Given the description of an element on the screen output the (x, y) to click on. 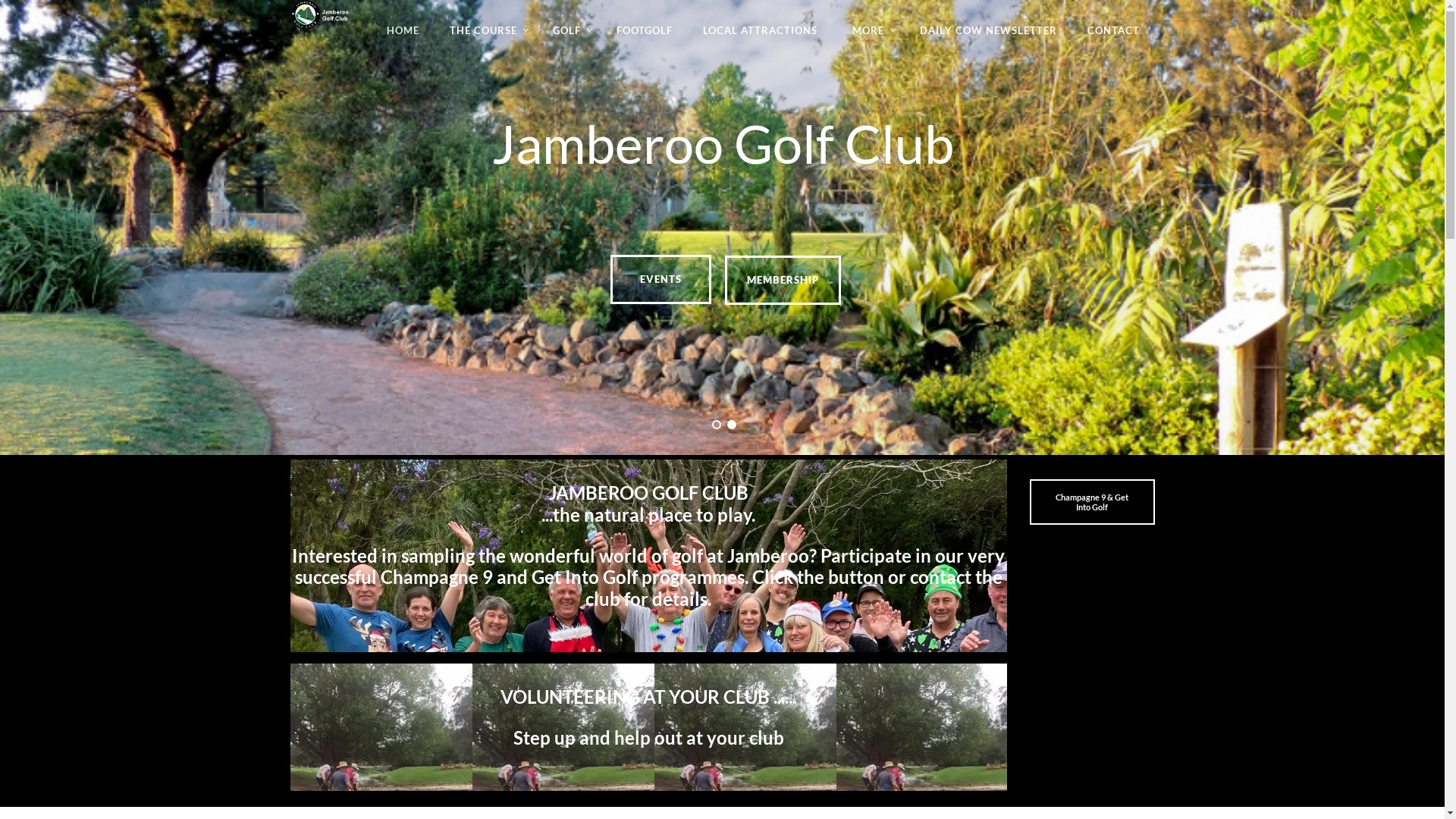
MORE Element type: text (868, 30)
MEMBERSHIP Element type: text (782, 279)
THE COURSE Element type: text (484, 30)
EVENTS Element type: text (660, 279)
Champagne 9 & Get Into Golf Element type: text (1091, 501)
HOME Element type: text (402, 30)
LOCAL ATTRACTIONS Element type: text (759, 30)
CONTACT Element type: text (1113, 30)
Jamberoo Golf Club Element type: hover (318, 15)
JAMBEROO GOLF CLUB
...the natural place to play. Element type: text (899, 513)
VOLUNTEERING AT YOUR CLUB ...... Element type: text (858, 706)
FOOTGOLF Element type: text (643, 30)
GOLF Element type: text (568, 30)
DAILY COW NEWSLETTER Element type: text (987, 30)
Step up and help out at your club Element type: text (647, 737)
